Given the description of an element on the screen output the (x, y) to click on. 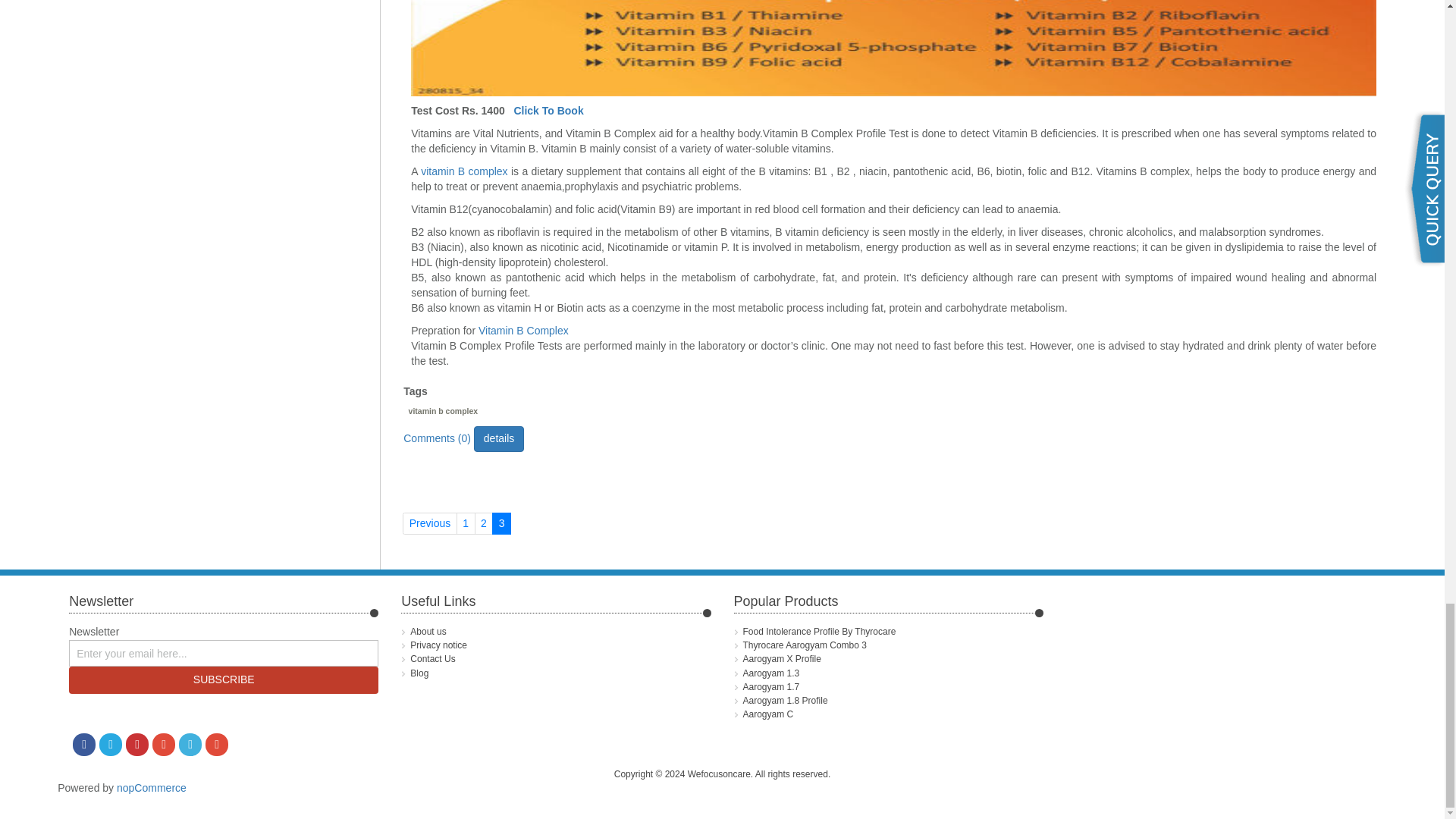
Subscribe (223, 679)
